Given the description of an element on the screen output the (x, y) to click on. 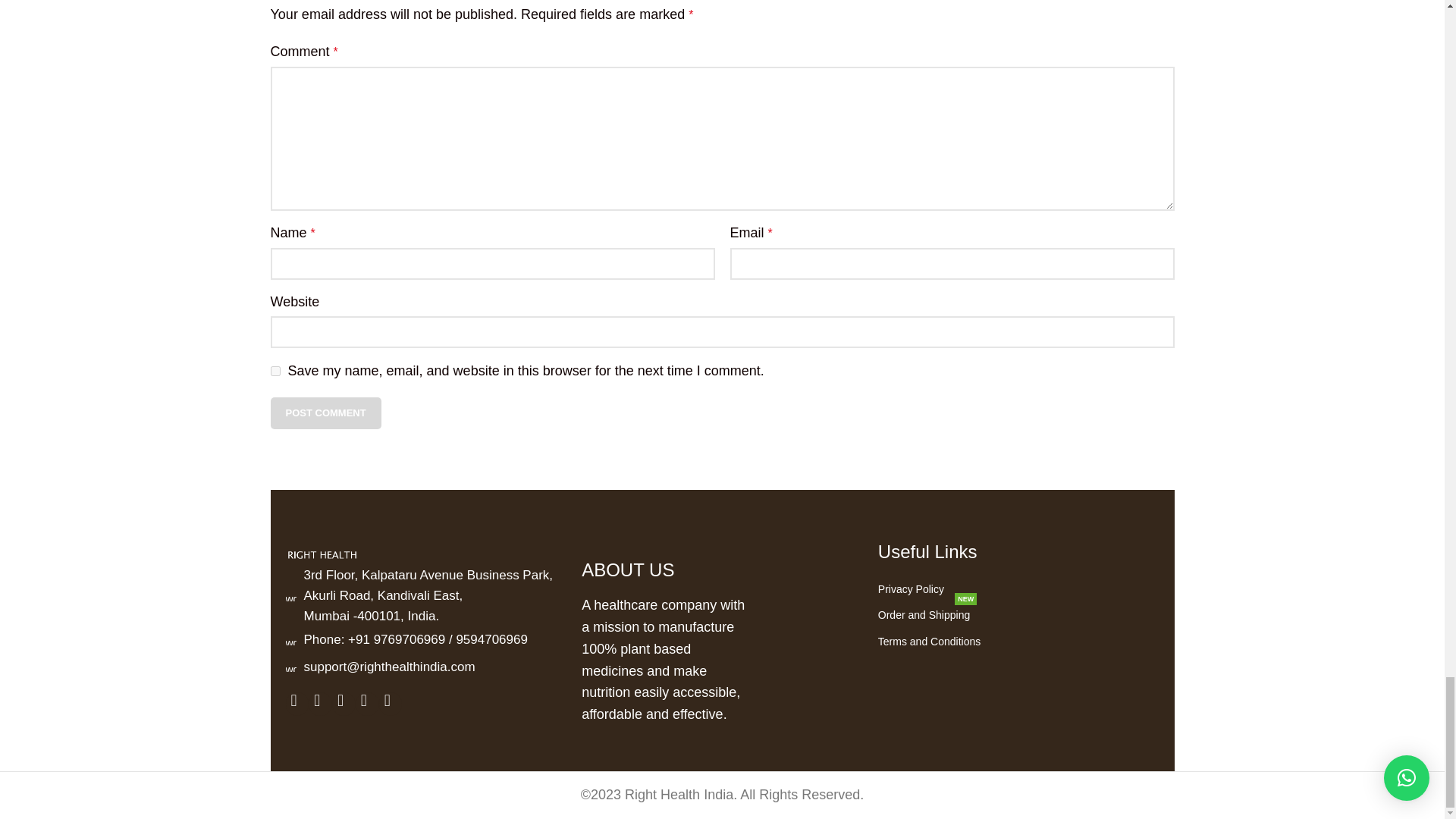
wd-cursor-dark (290, 595)
yes (274, 370)
wd-envelope-dark (290, 665)
wd-phone-dark (290, 639)
Post Comment (324, 413)
